Given the description of an element on the screen output the (x, y) to click on. 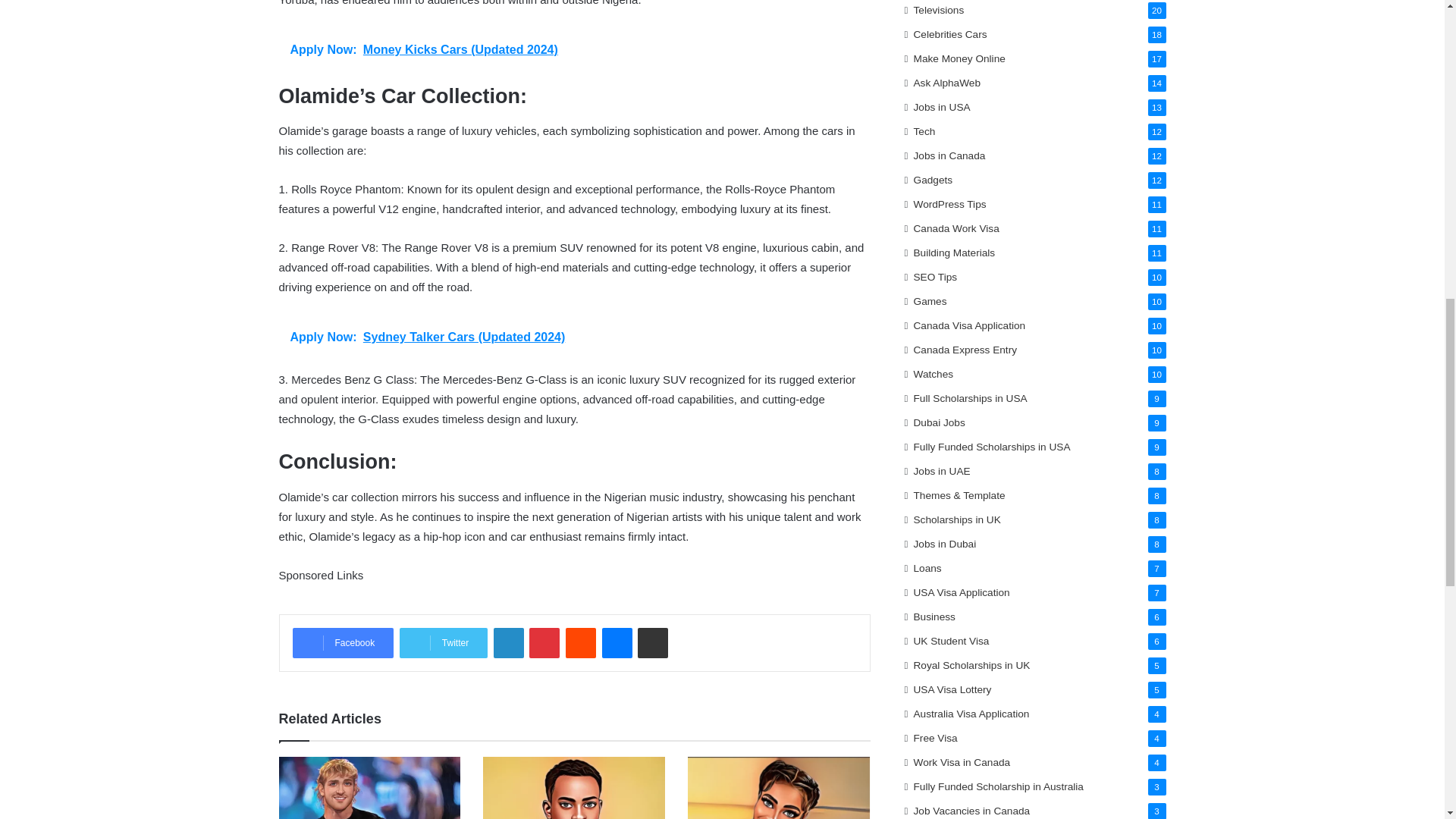
LinkedIn (508, 643)
LinkedIn (508, 643)
Share via Email (652, 643)
Facebook (343, 643)
Share via Email (652, 643)
Twitter (442, 643)
Facebook (343, 643)
Messenger (616, 643)
Pinterest (544, 643)
Twitter (442, 643)
